Given the description of an element on the screen output the (x, y) to click on. 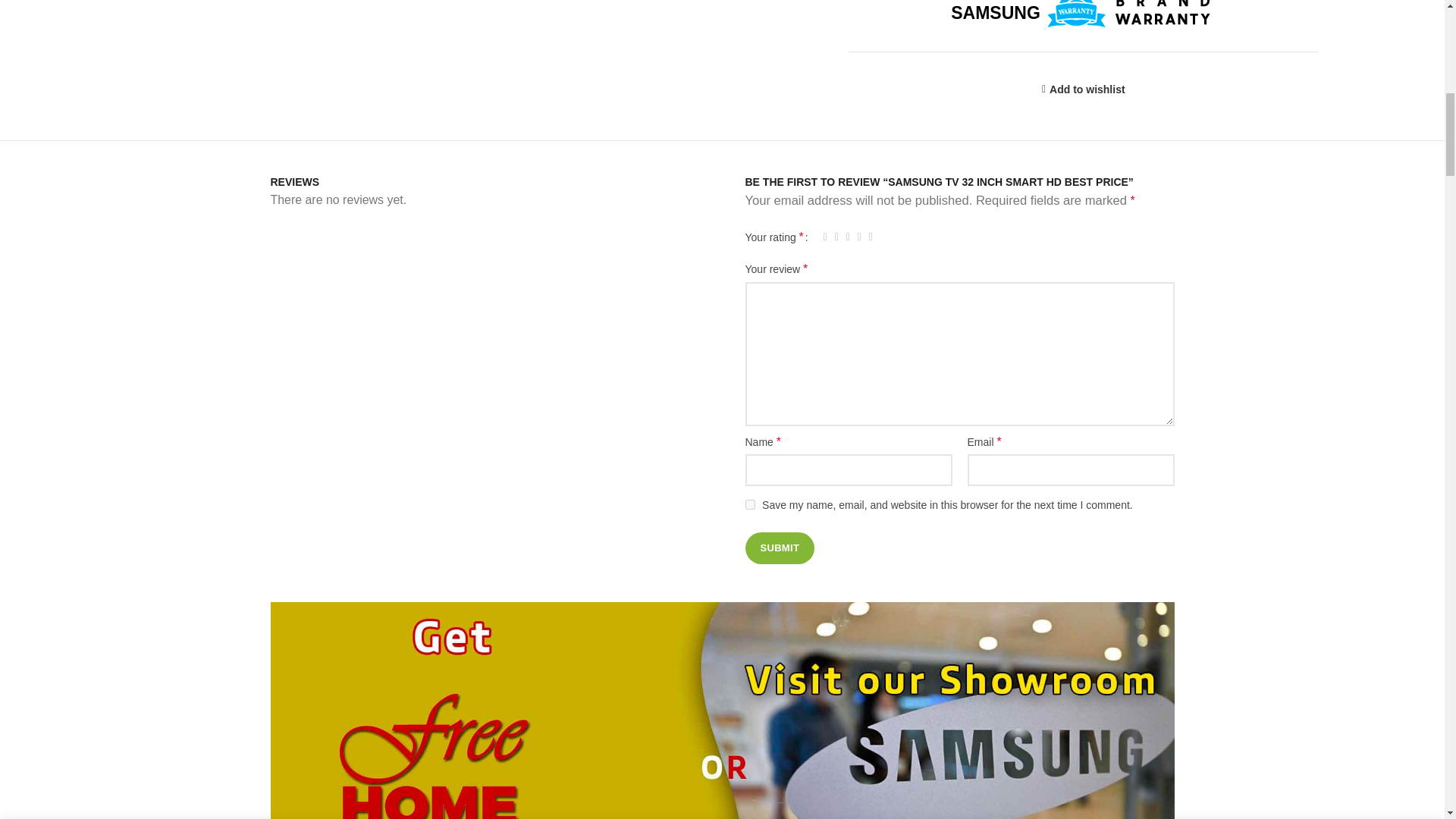
yes (749, 504)
Submit (778, 548)
